Given the description of an element on the screen output the (x, y) to click on. 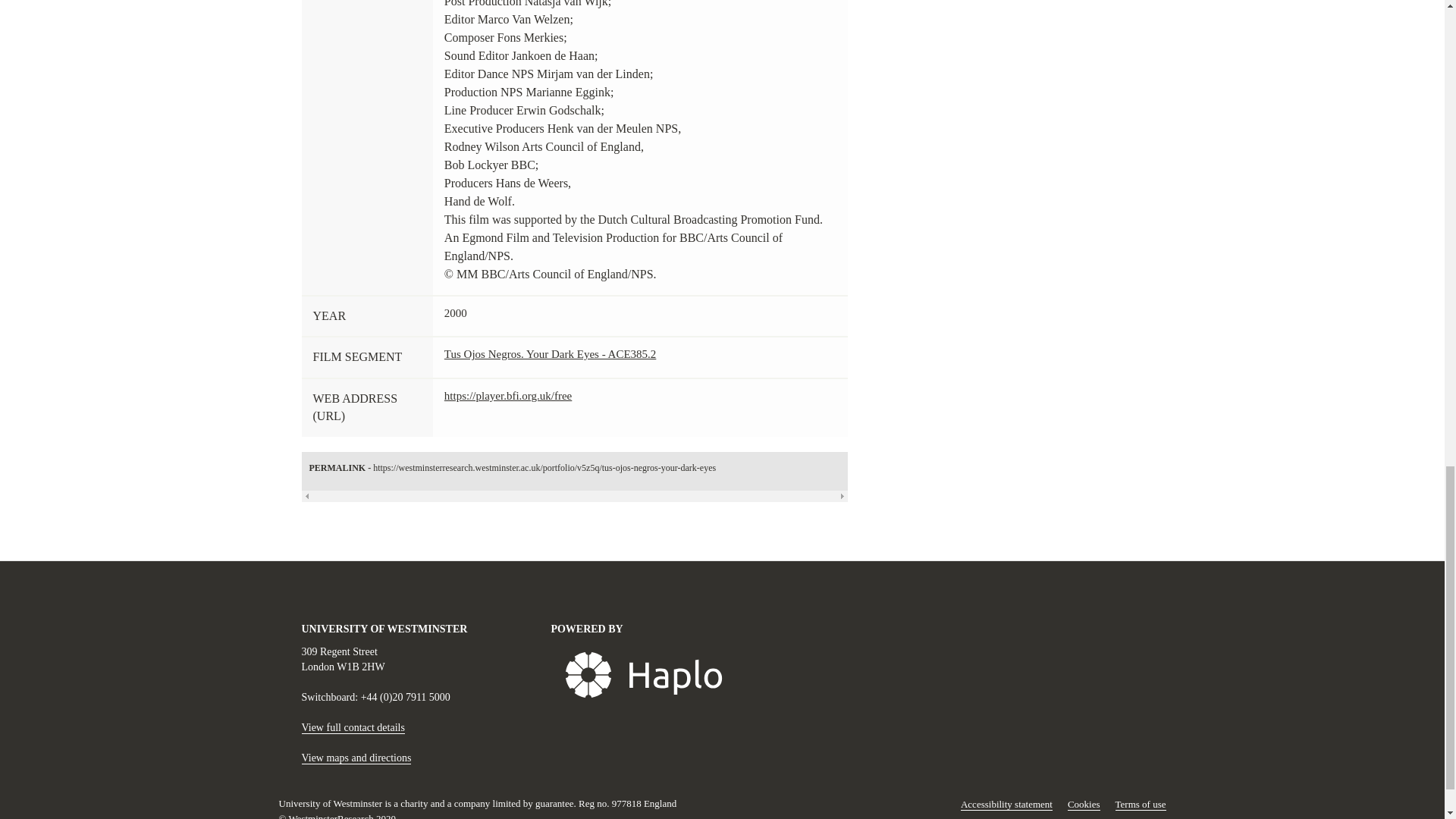
Accessibility statement (1006, 804)
Tus Ojos Negros. Your Dark Eyes - ACE385.2 (550, 354)
Cookies (1083, 804)
View full contact details (352, 727)
View maps and directions (356, 758)
Terms of use (1140, 804)
